Given the description of an element on the screen output the (x, y) to click on. 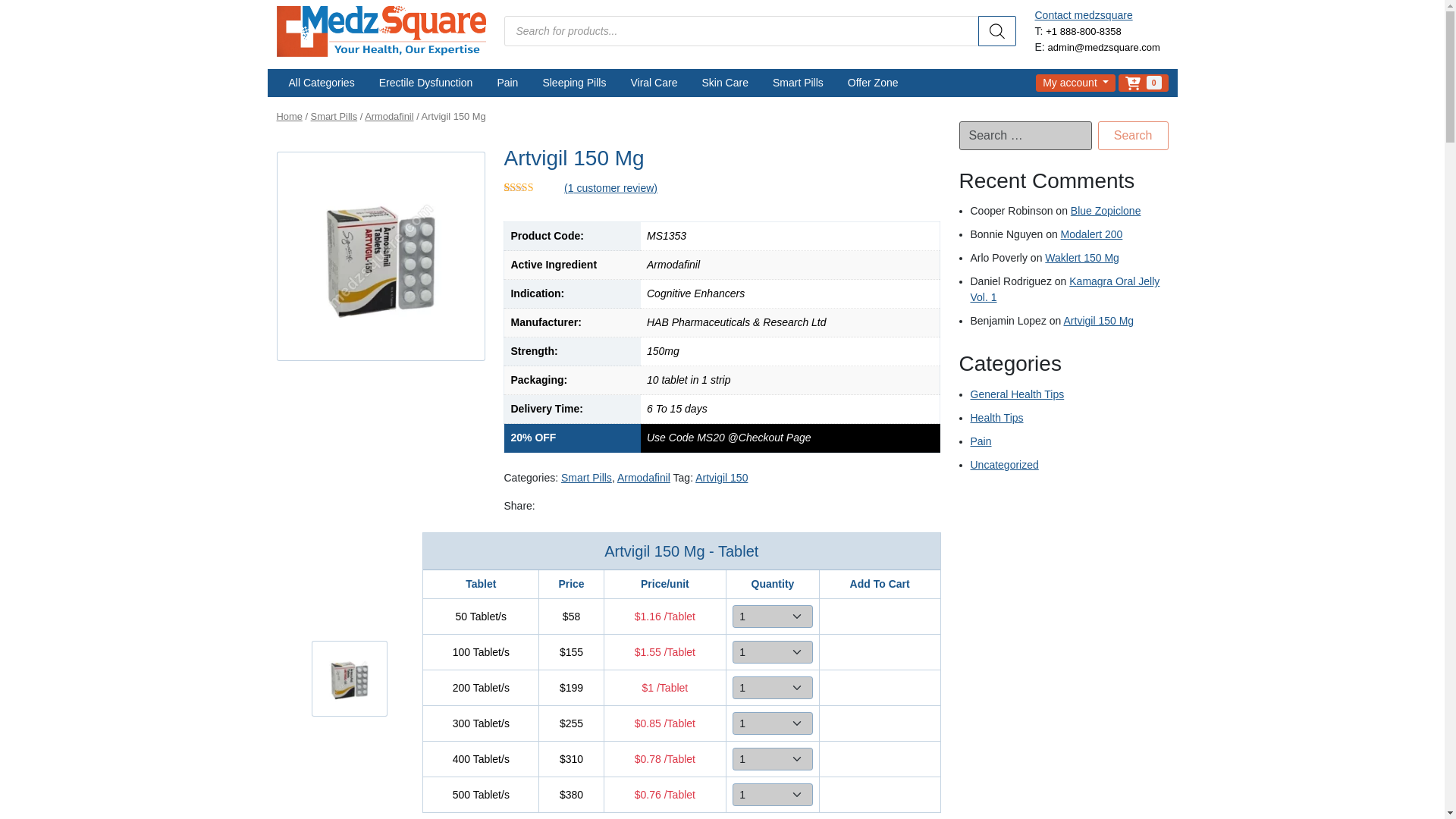
Sleeping Pills (573, 82)
0 (1142, 82)
Offer Zone (873, 82)
Pain (506, 82)
My account (1075, 82)
Erectile Dysfunction (425, 82)
Skin Care (724, 82)
Viral Care (652, 82)
Contact medzsquare (1082, 15)
Artvigil 150Mg (349, 678)
